Given the description of an element on the screen output the (x, y) to click on. 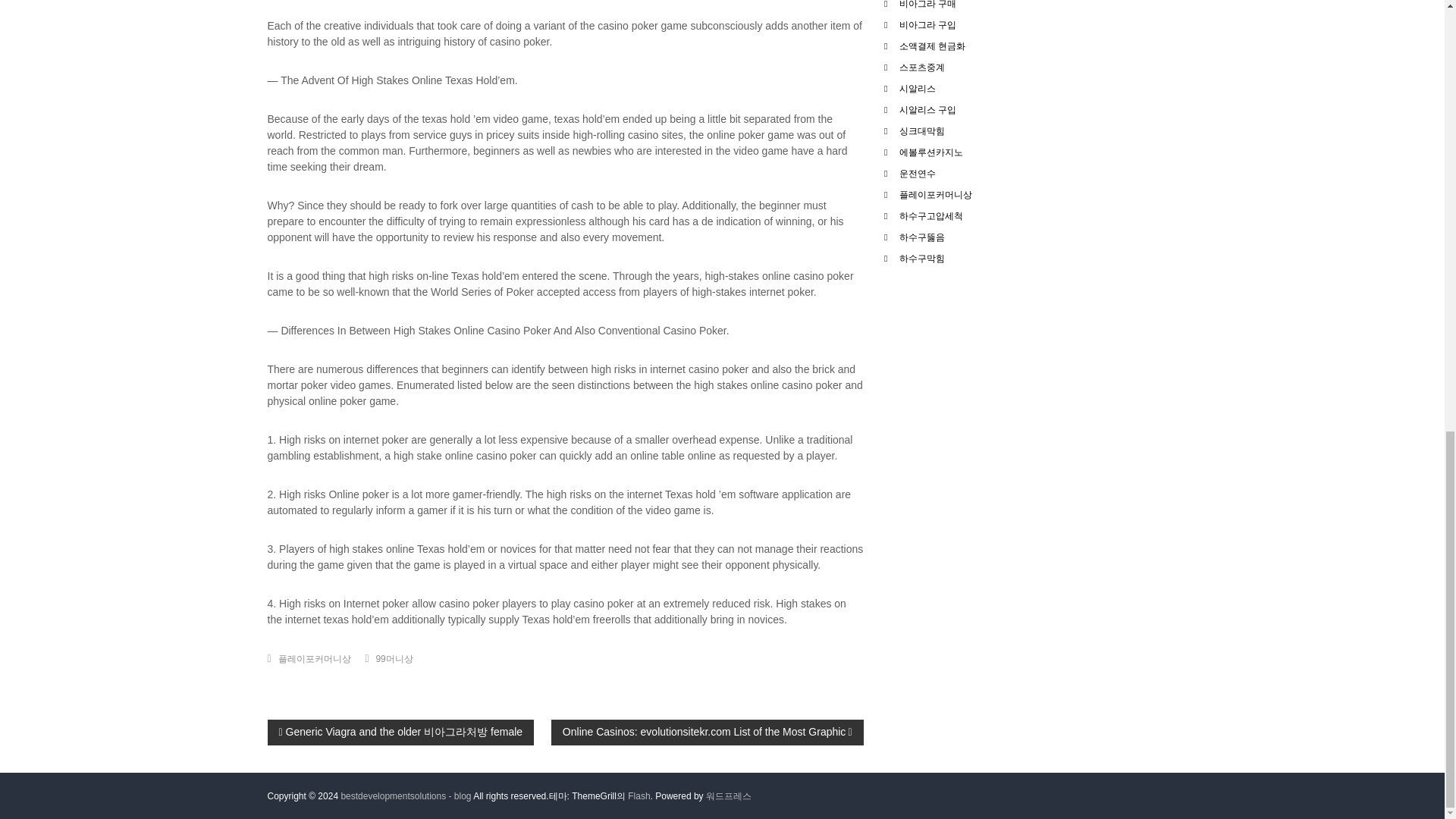
Online Casinos: evolutionsitekr.com List of the Most Graphic (707, 731)
